Given the description of an element on the screen output the (x, y) to click on. 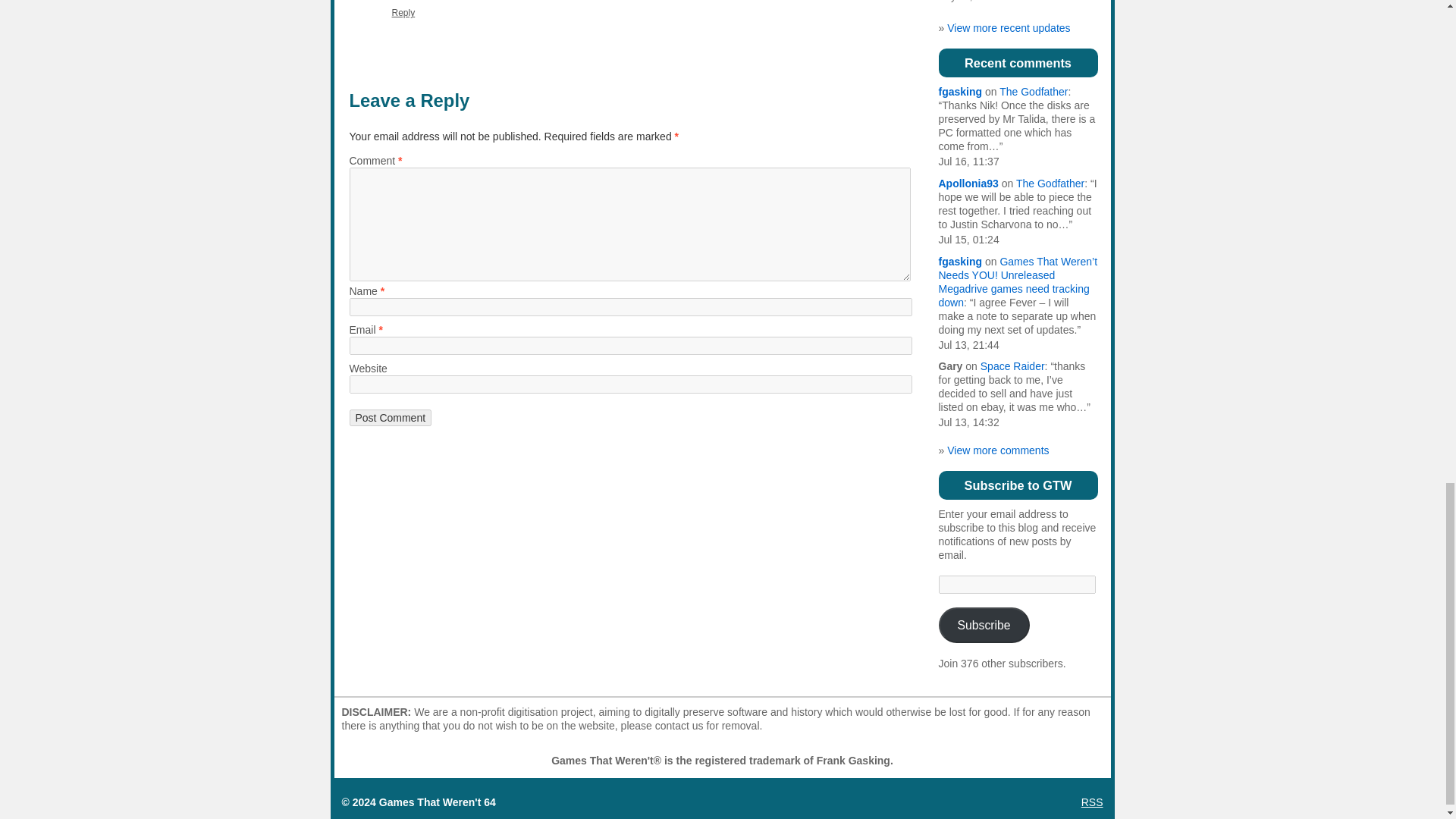
Post Comment (389, 417)
